Given the description of an element on the screen output the (x, y) to click on. 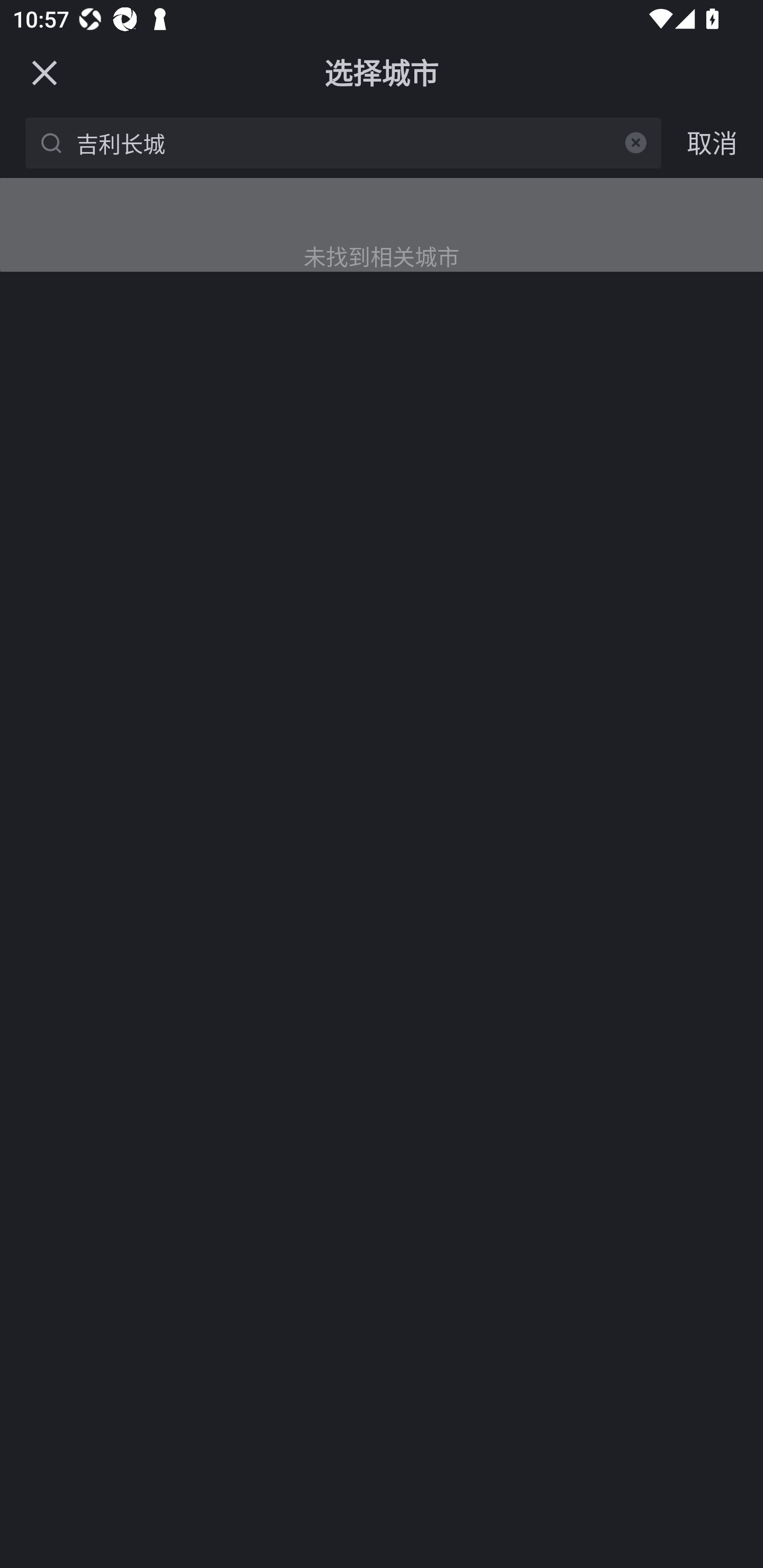
 (44, 71)
取消 (711, 142)
吉利长城 (346, 142)
 (635, 142)
